Given the description of an element on the screen output the (x, y) to click on. 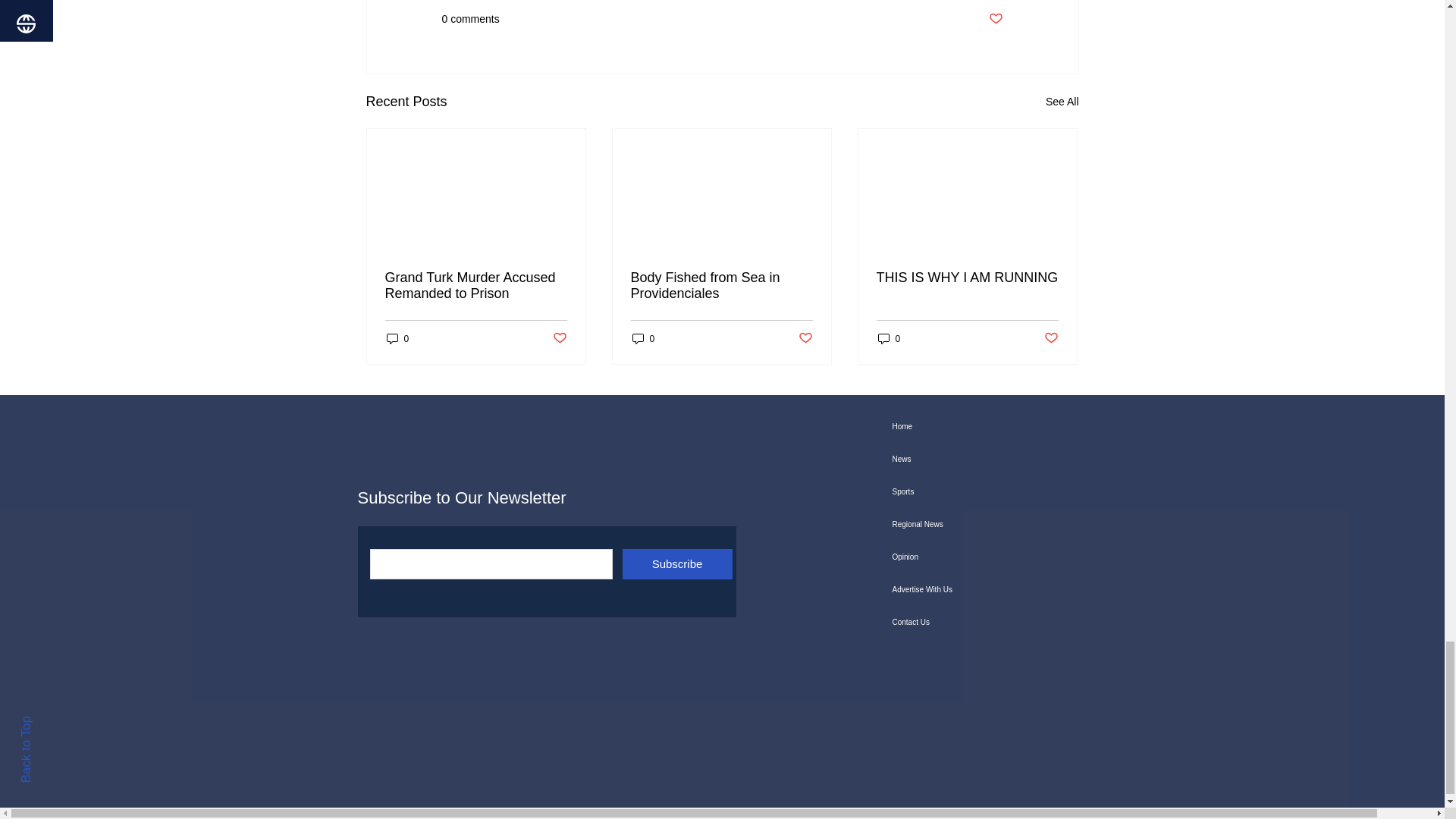
Body Fished from Sea in Providenciales (721, 286)
Grand Turk Murder Accused Remanded to Prison (476, 286)
0 (397, 338)
Post not marked as liked (995, 19)
0 (643, 338)
See All (1061, 101)
Post not marked as liked (804, 338)
Post not marked as liked (558, 338)
